Given the description of an element on the screen output the (x, y) to click on. 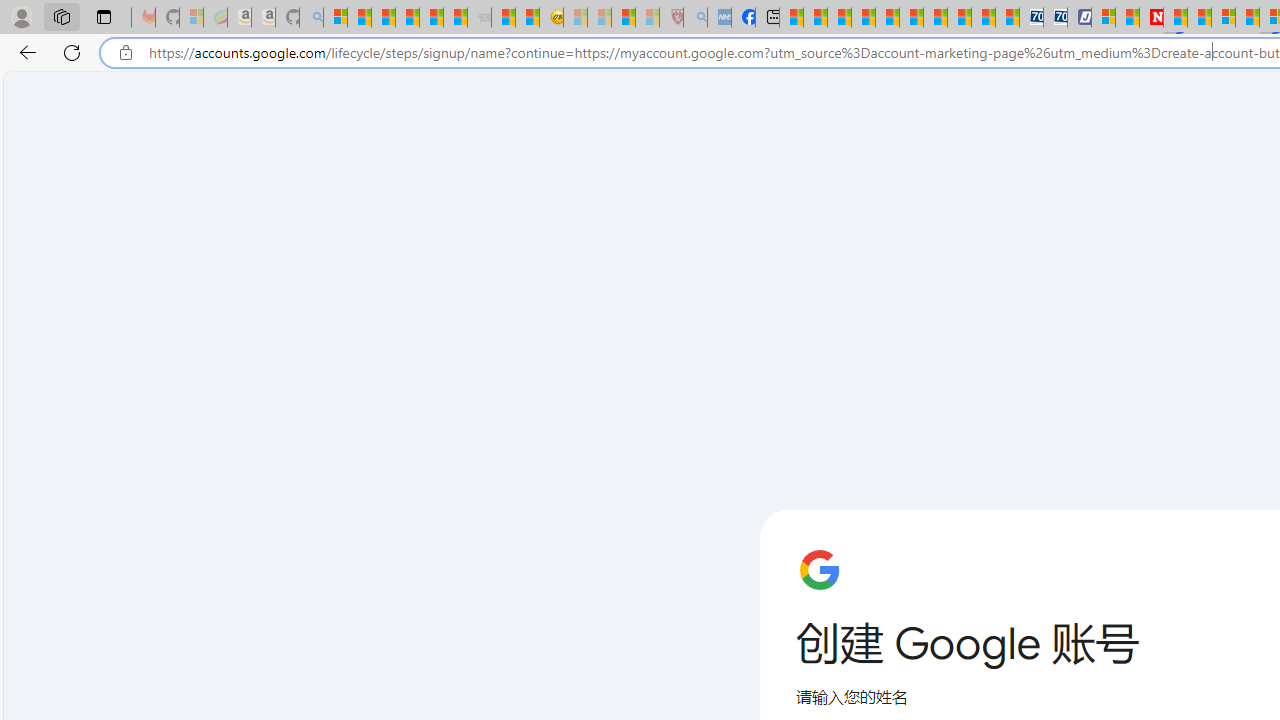
12 Popular Science Lies that Must be Corrected - Sleeping (647, 17)
